Given the description of an element on the screen output the (x, y) to click on. 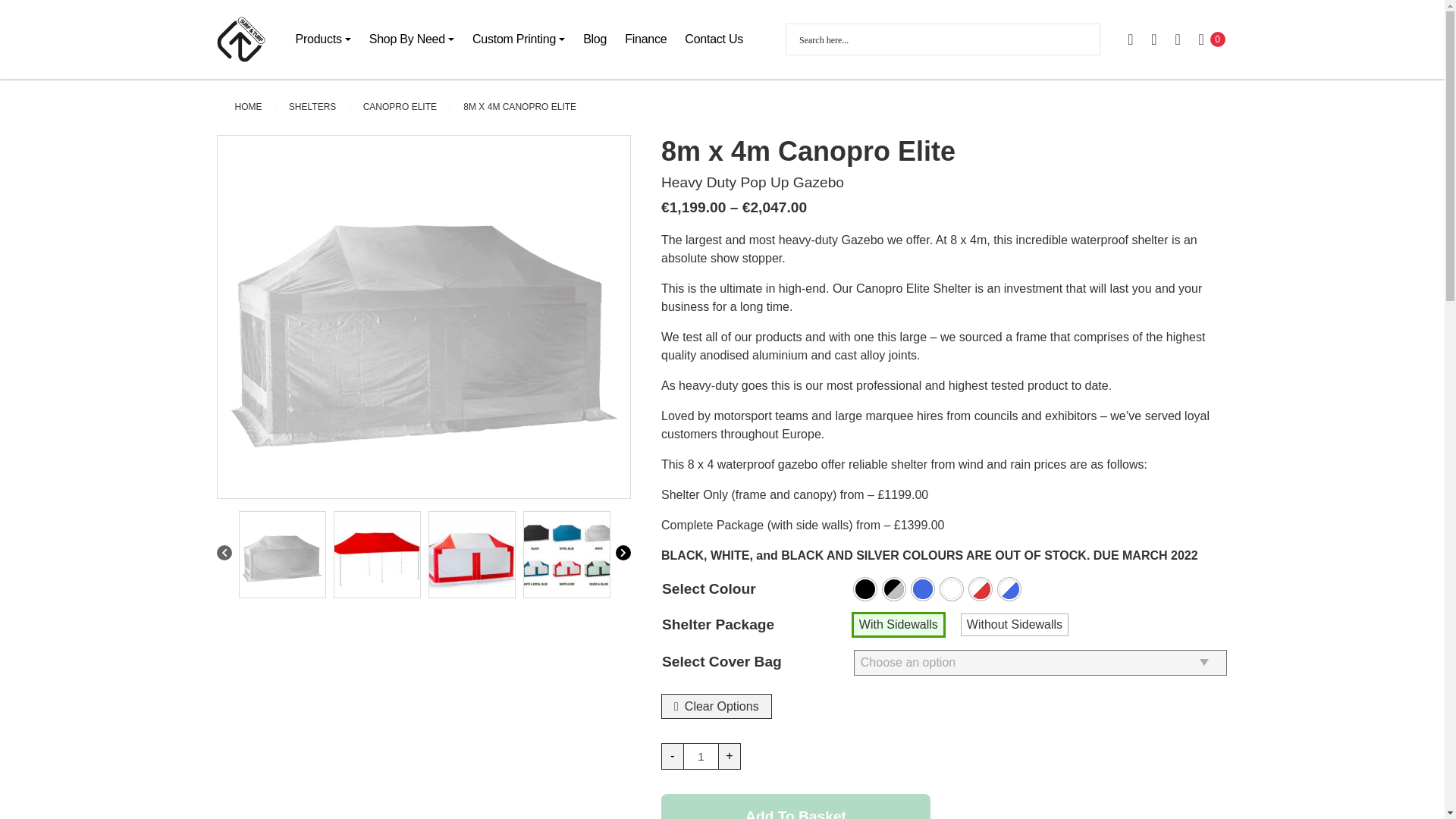
Custom Printing (517, 39)
1 (700, 755)
Shop By Need (411, 39)
Shop By Need (411, 39)
